Given the description of an element on the screen output the (x, y) to click on. 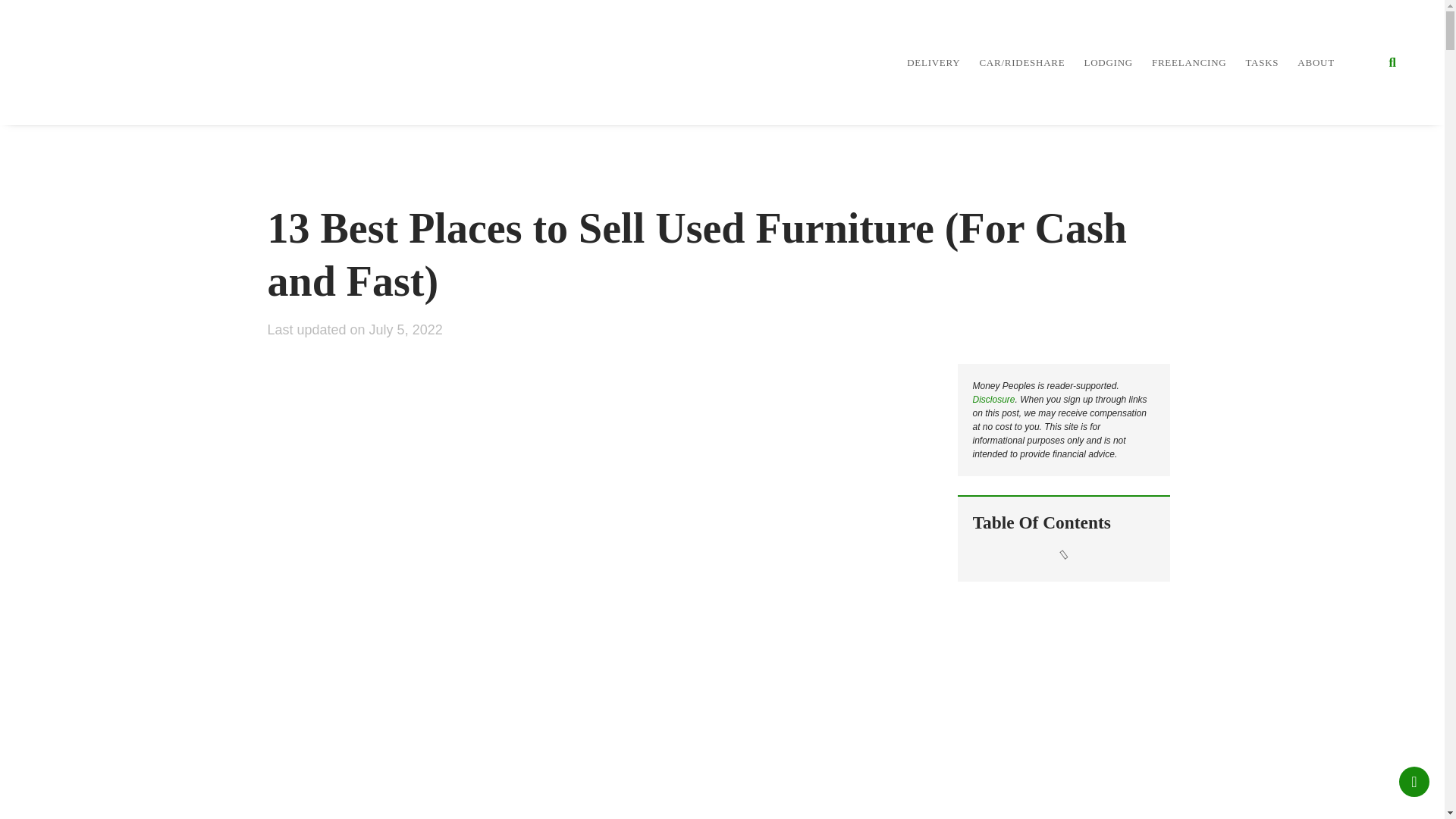
DELIVERY (933, 61)
LODGING (1107, 61)
TASKS (1261, 61)
ABOUT (1316, 61)
FREELANCING (1189, 61)
